Given the description of an element on the screen output the (x, y) to click on. 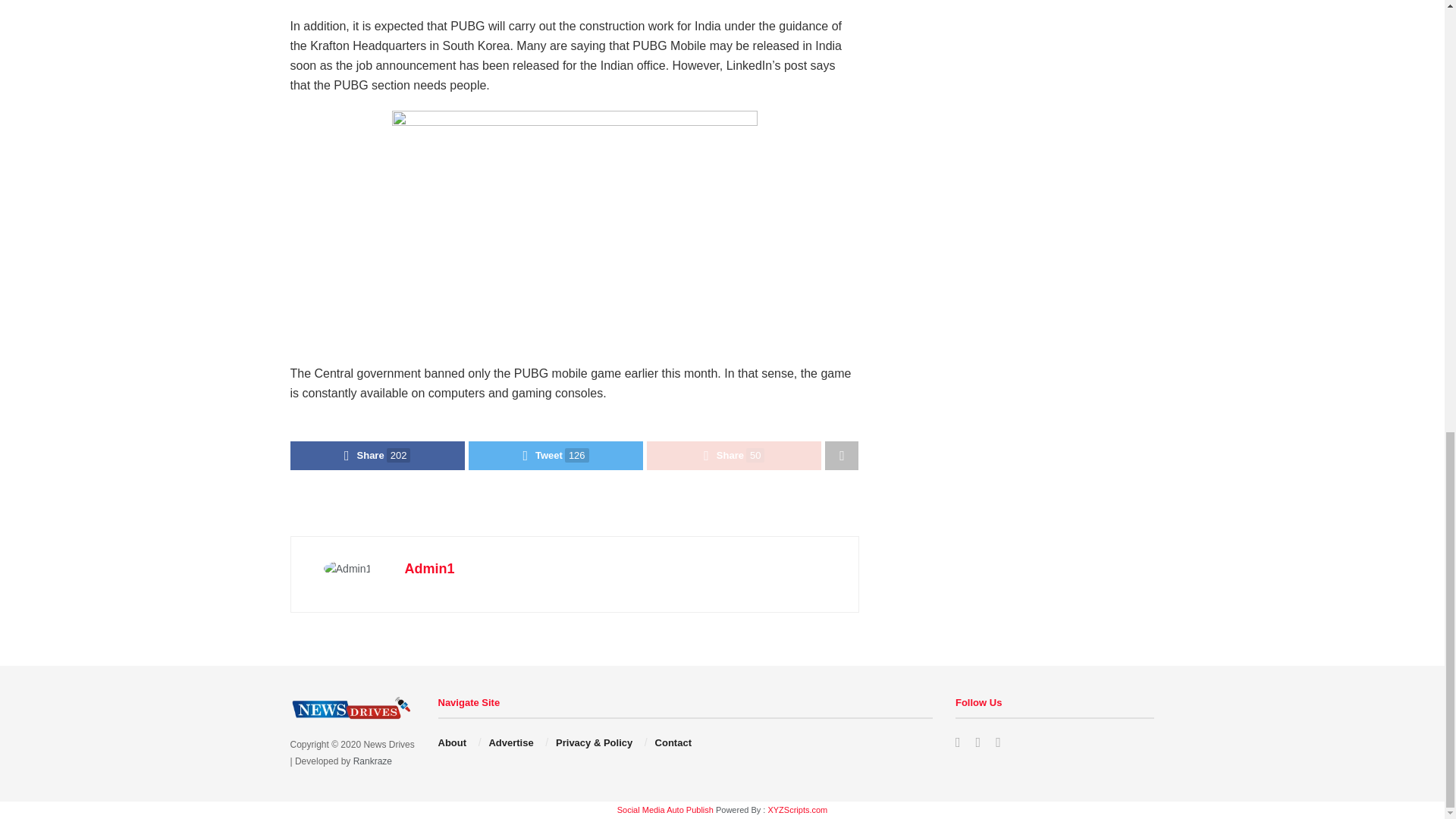
Social Media Auto Publish (665, 809)
